Given the description of an element on the screen output the (x, y) to click on. 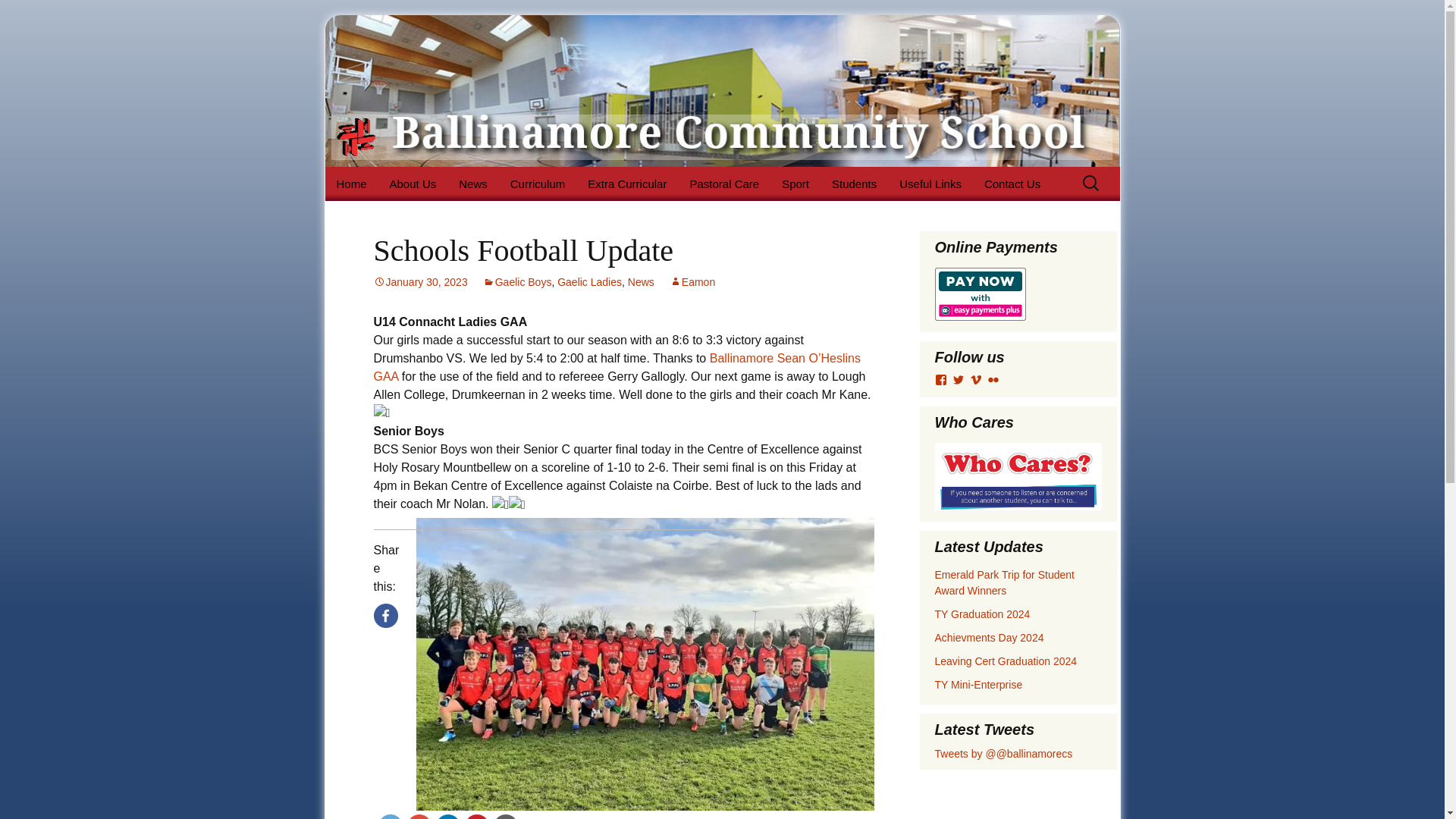
Click to share on Facebook (384, 615)
Click to share on Twitter (389, 816)
Click to share on LinkedIn (447, 816)
Official Opening Celebration (453, 220)
Amber Flag (652, 215)
Wellbeing (574, 215)
Click to share on Google (418, 816)
Permalink to Schools Football Update (419, 282)
Extra Curricular (627, 183)
